Given the description of an element on the screen output the (x, y) to click on. 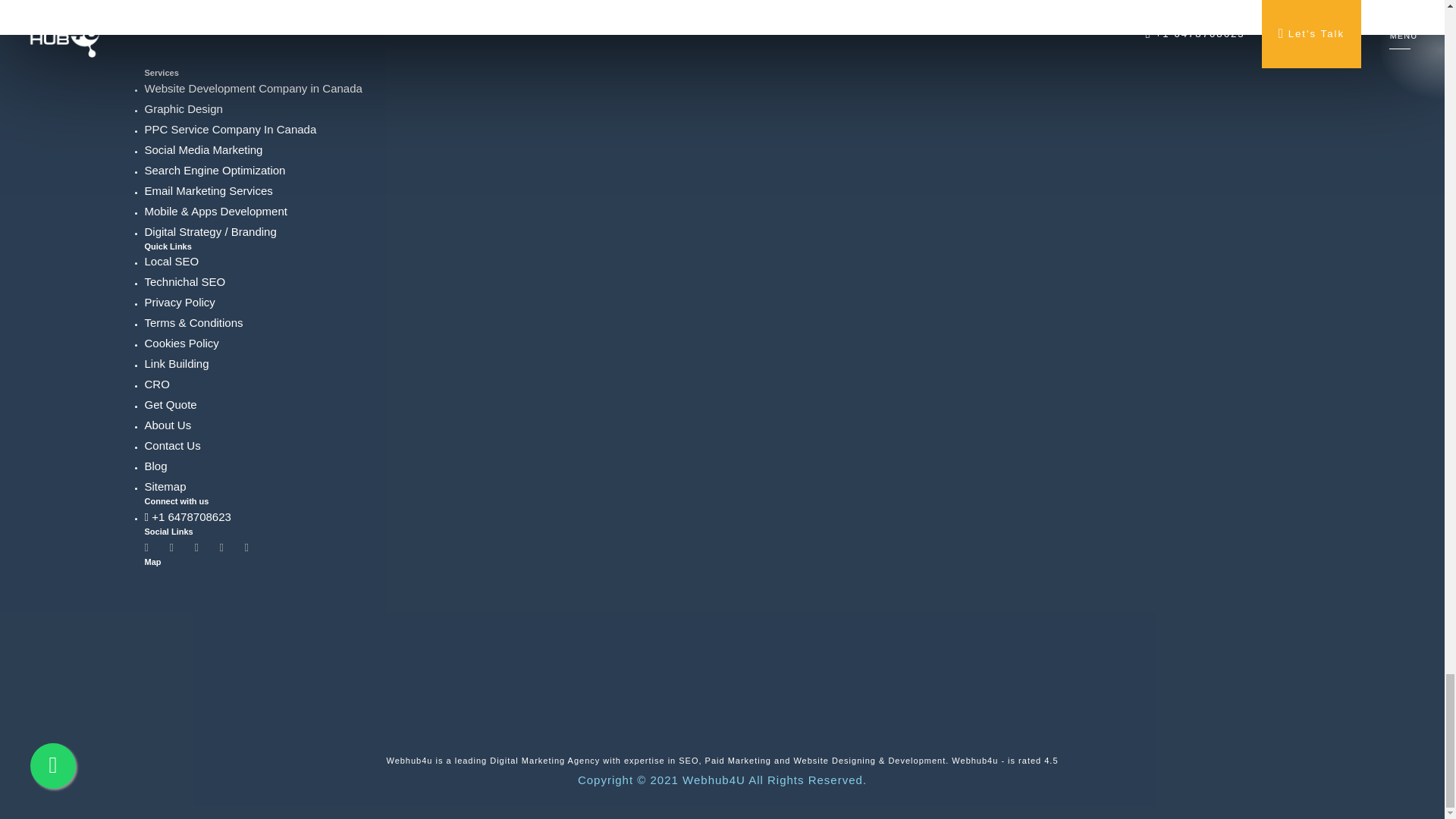
Search Engine Optimization (214, 169)
PPC Service Company In Canada (229, 128)
Privacy Policy (179, 301)
About Us (167, 424)
Contact Us (172, 445)
Blog (155, 465)
CRO (156, 383)
Graphic Design (183, 108)
Website Development Company in Canada (252, 88)
Sitemap (165, 486)
Social Media Marketing (203, 149)
Cookies Policy (181, 342)
Email Marketing Services (208, 190)
Local SEO (171, 260)
Get Quote (170, 404)
